Given the description of an element on the screen output the (x, y) to click on. 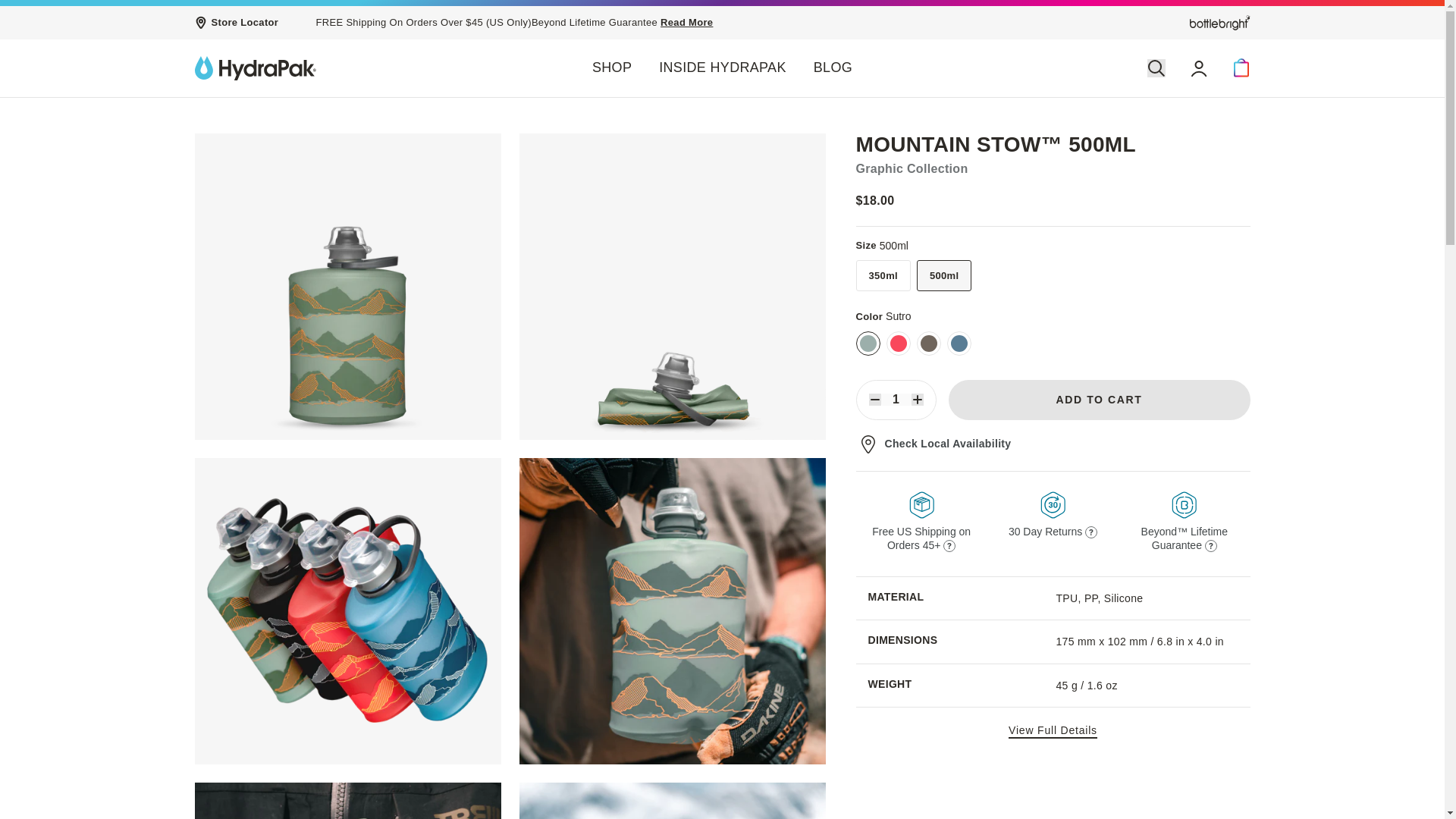
1 (895, 399)
INSIDE HYDRAPAK (722, 69)
Account (1198, 67)
Read More (687, 21)
Cart (1240, 67)
Store Locator (235, 22)
Warranty (687, 21)
